Given the description of an element on the screen output the (x, y) to click on. 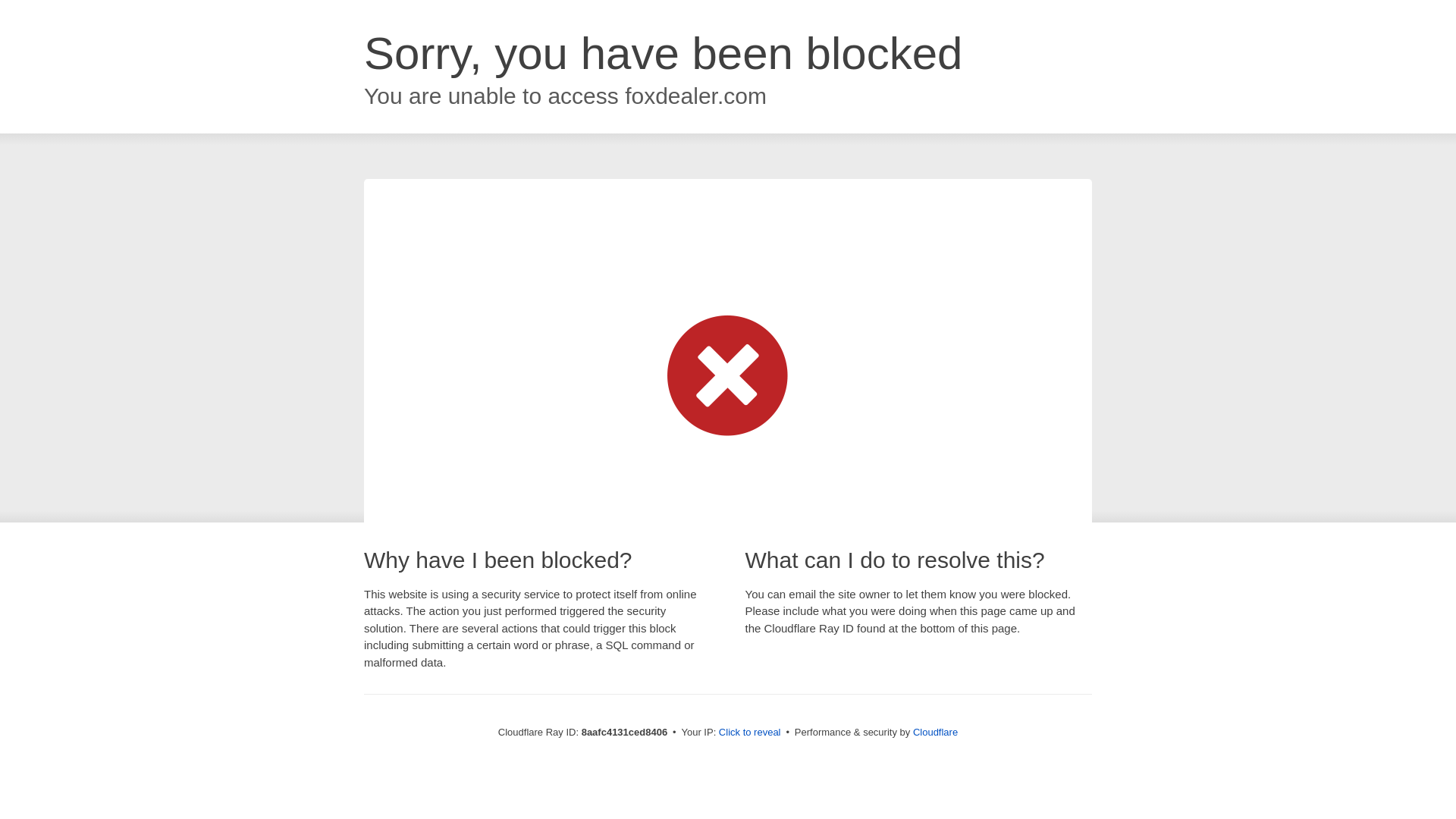
Cloudflare (935, 731)
Click to reveal (749, 732)
